Given the description of an element on the screen output the (x, y) to click on. 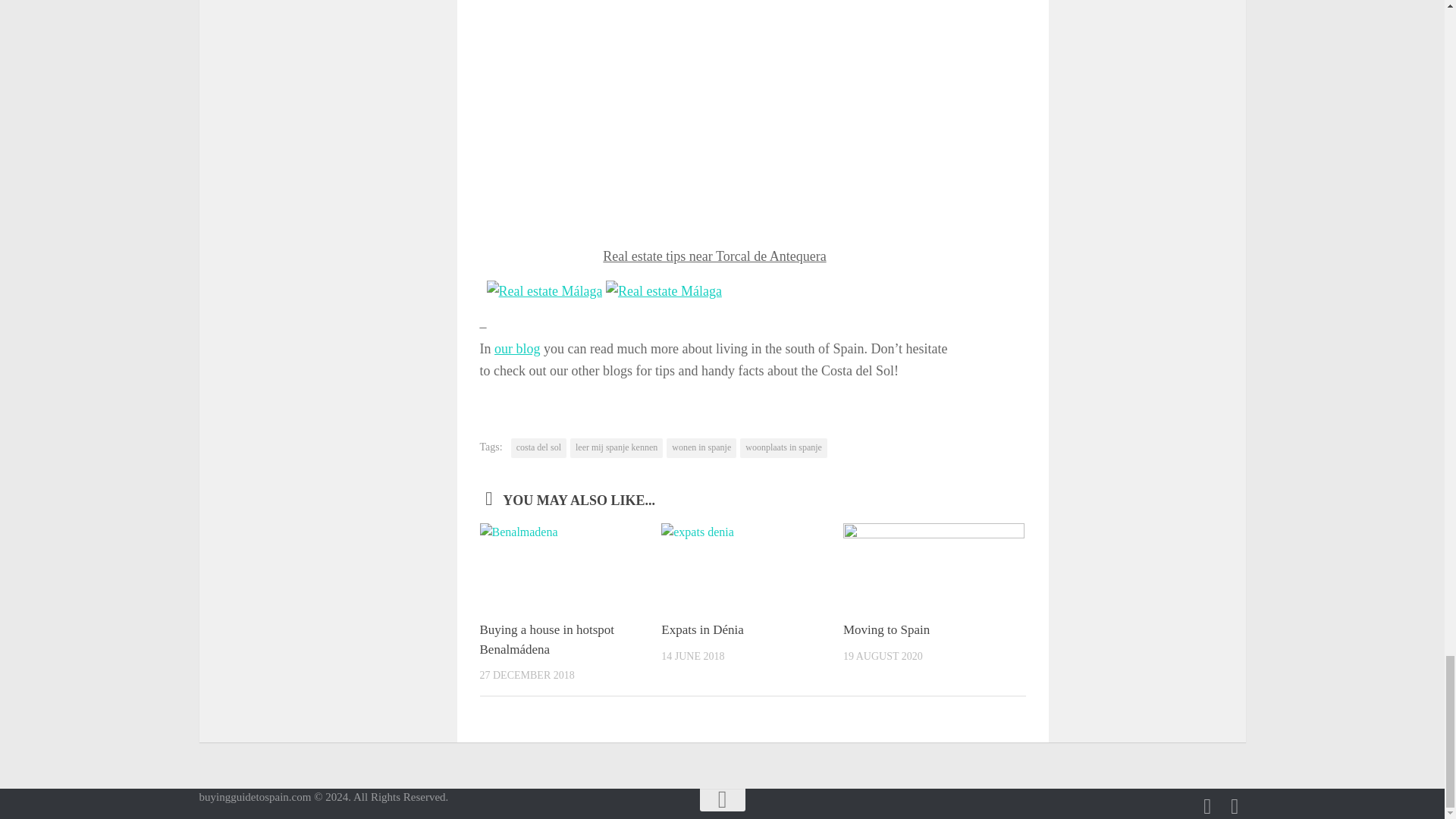
our blog (517, 348)
costa del sol (538, 447)
